Given the description of an element on the screen output the (x, y) to click on. 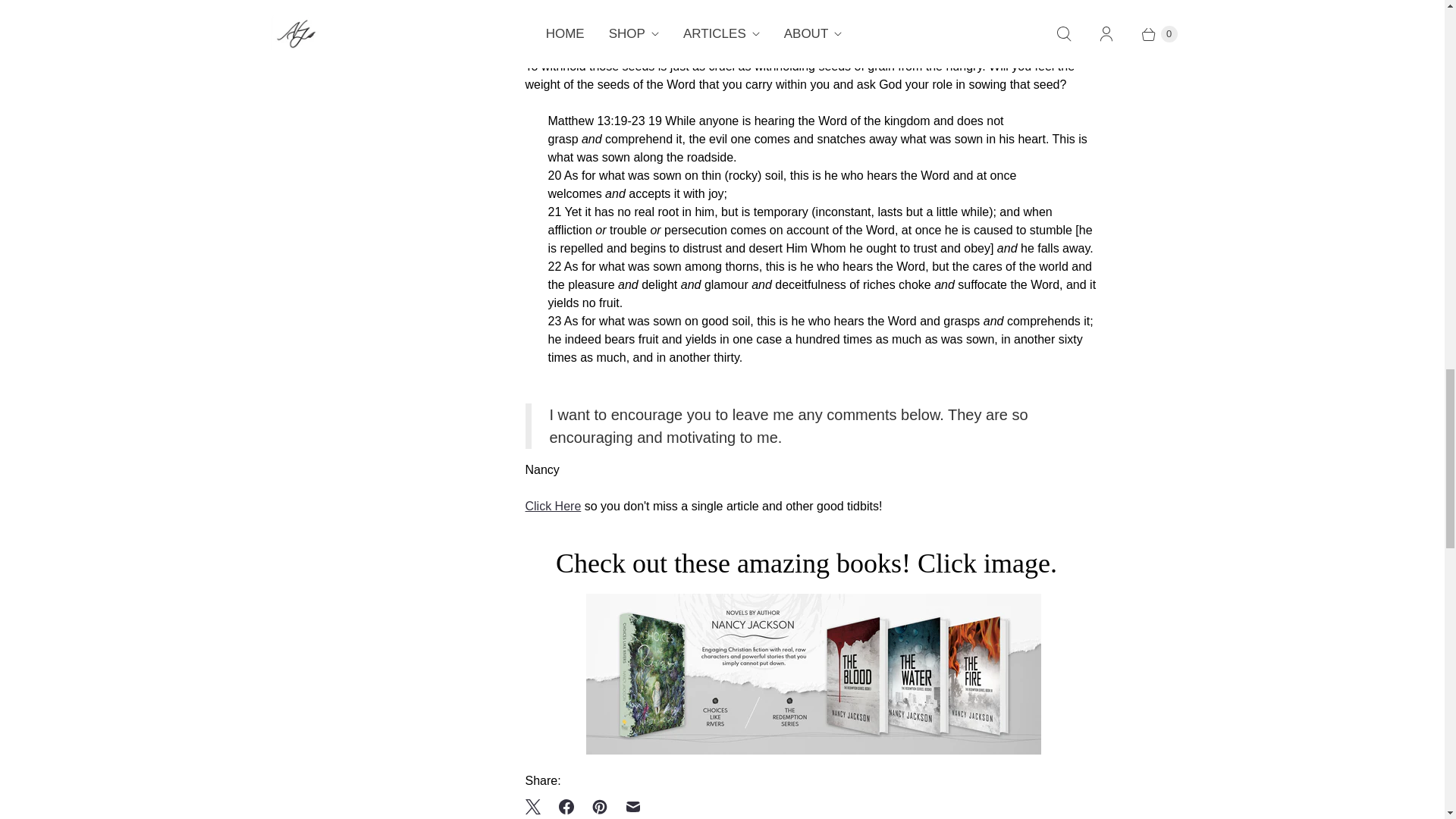
Share this on Pinterest (598, 804)
Share this on Facebook (565, 804)
Email this to a friend (632, 804)
Be Inspired (552, 505)
Buy These Amazing Books Here (813, 749)
